Given the description of an element on the screen output the (x, y) to click on. 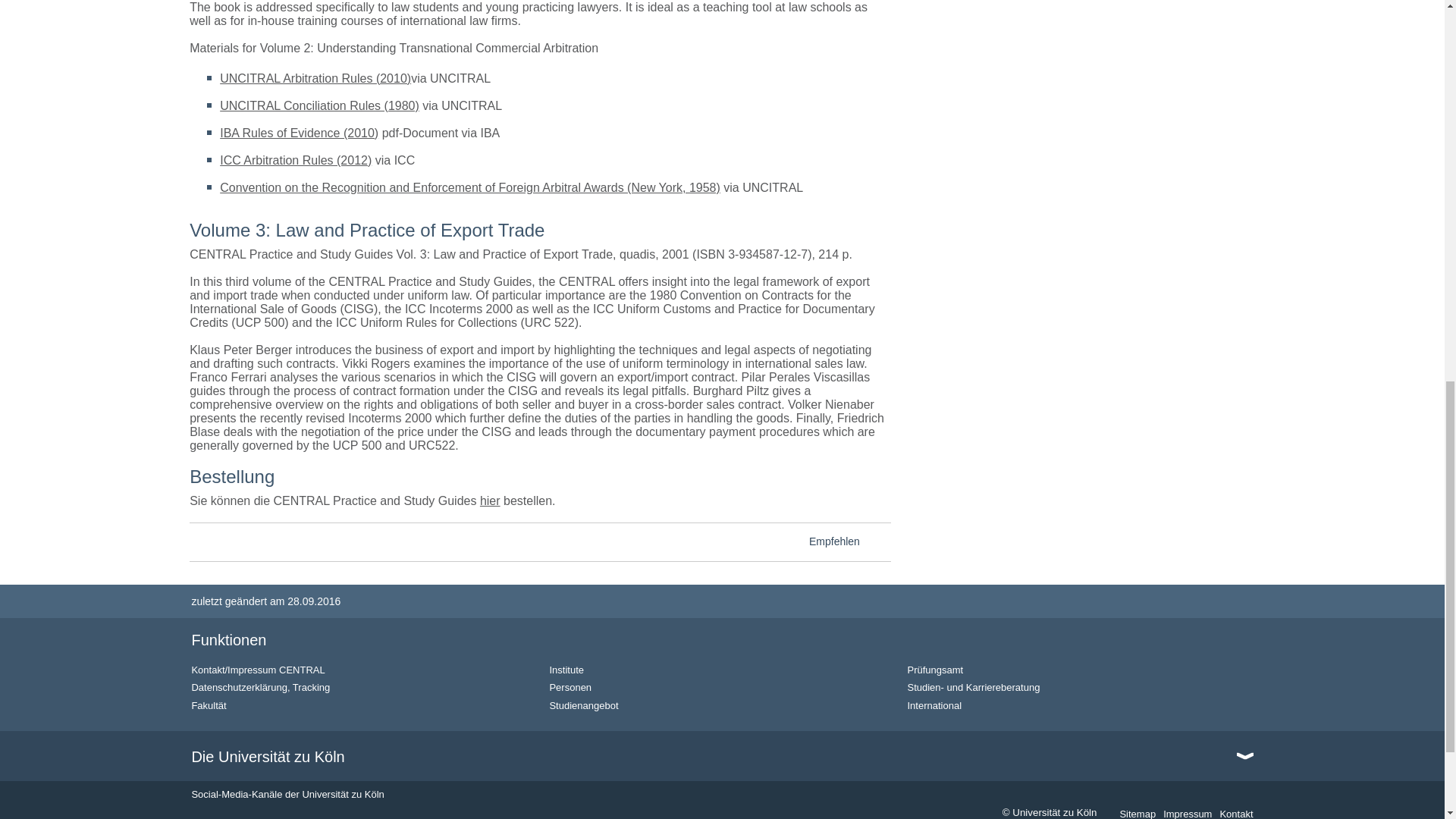
Artikel weiterempfehlen (878, 543)
